Given the description of an element on the screen output the (x, y) to click on. 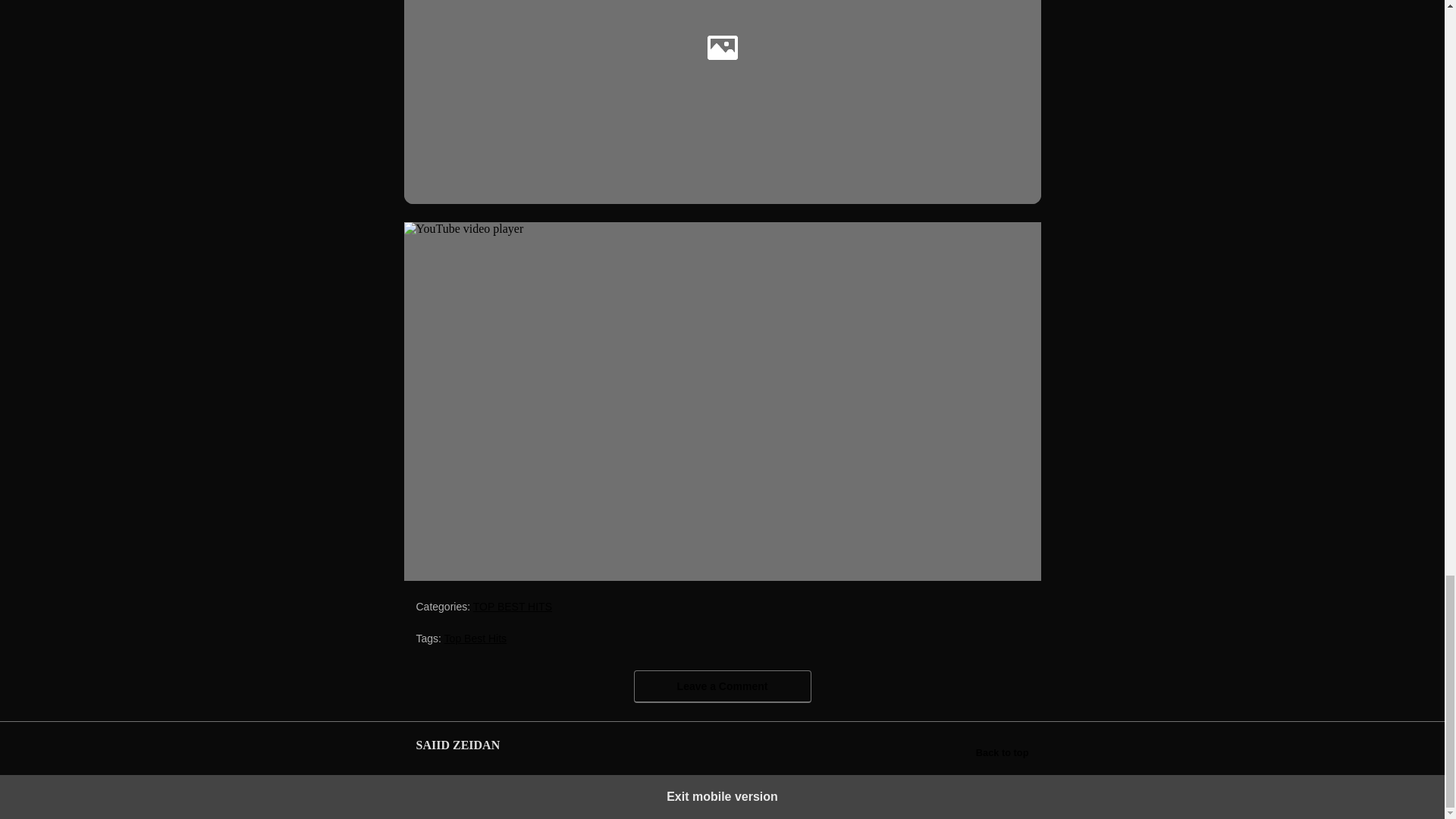
Back to top (1002, 752)
Top Best Hits (475, 637)
TOP BEST HITS (512, 605)
Leave a Comment (721, 686)
